Given the description of an element on the screen output the (x, y) to click on. 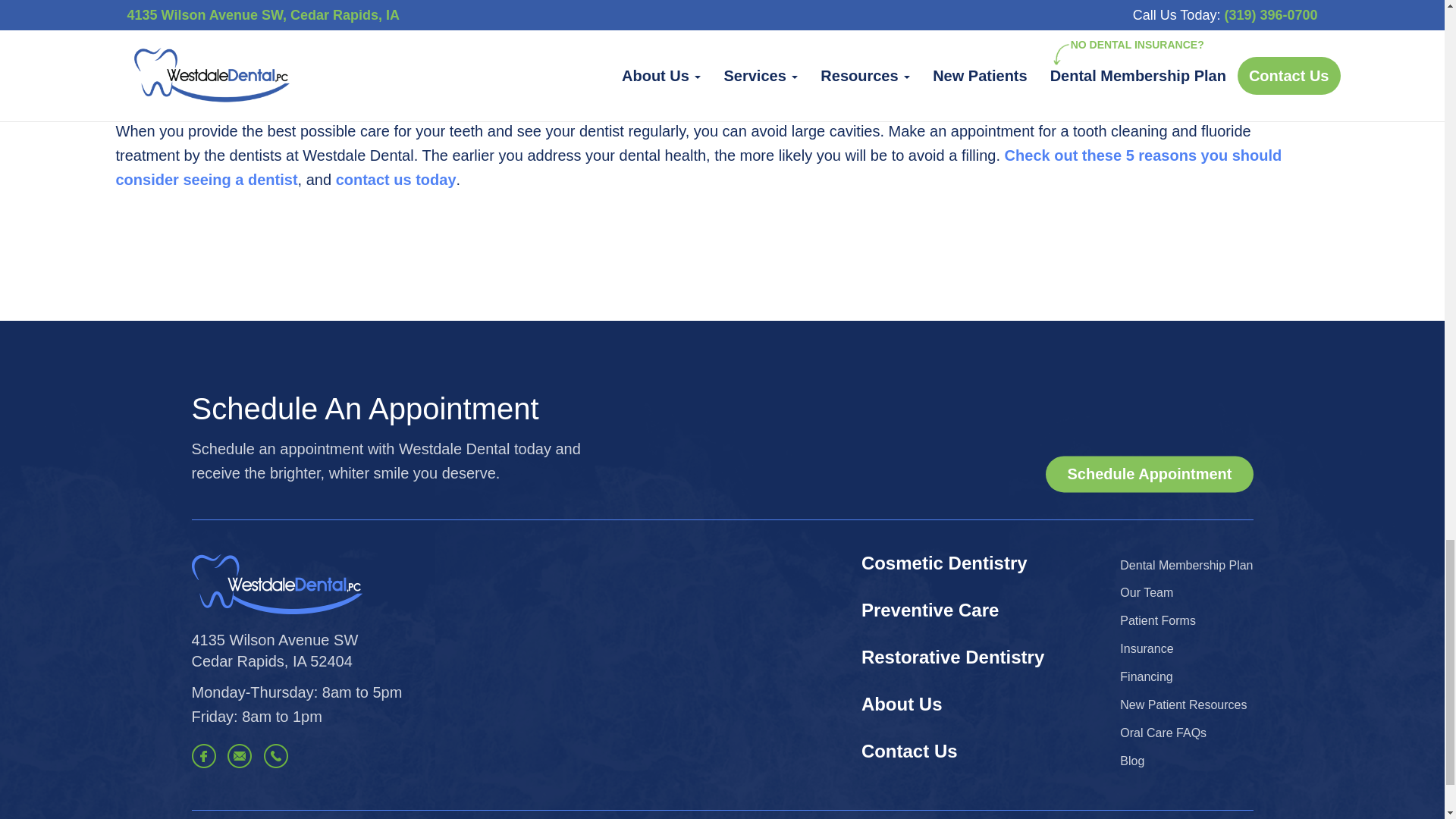
Preventive Care (929, 609)
Schedule Appointment (1148, 474)
Patient Forms (1157, 620)
About Us (901, 703)
Cosmetic Dentistry (944, 562)
contact us today (396, 178)
Restorative Dentistry (952, 657)
Dental Membership Plan (274, 649)
Contact Us (1185, 564)
Our Team (909, 751)
